Given the description of an element on the screen output the (x, y) to click on. 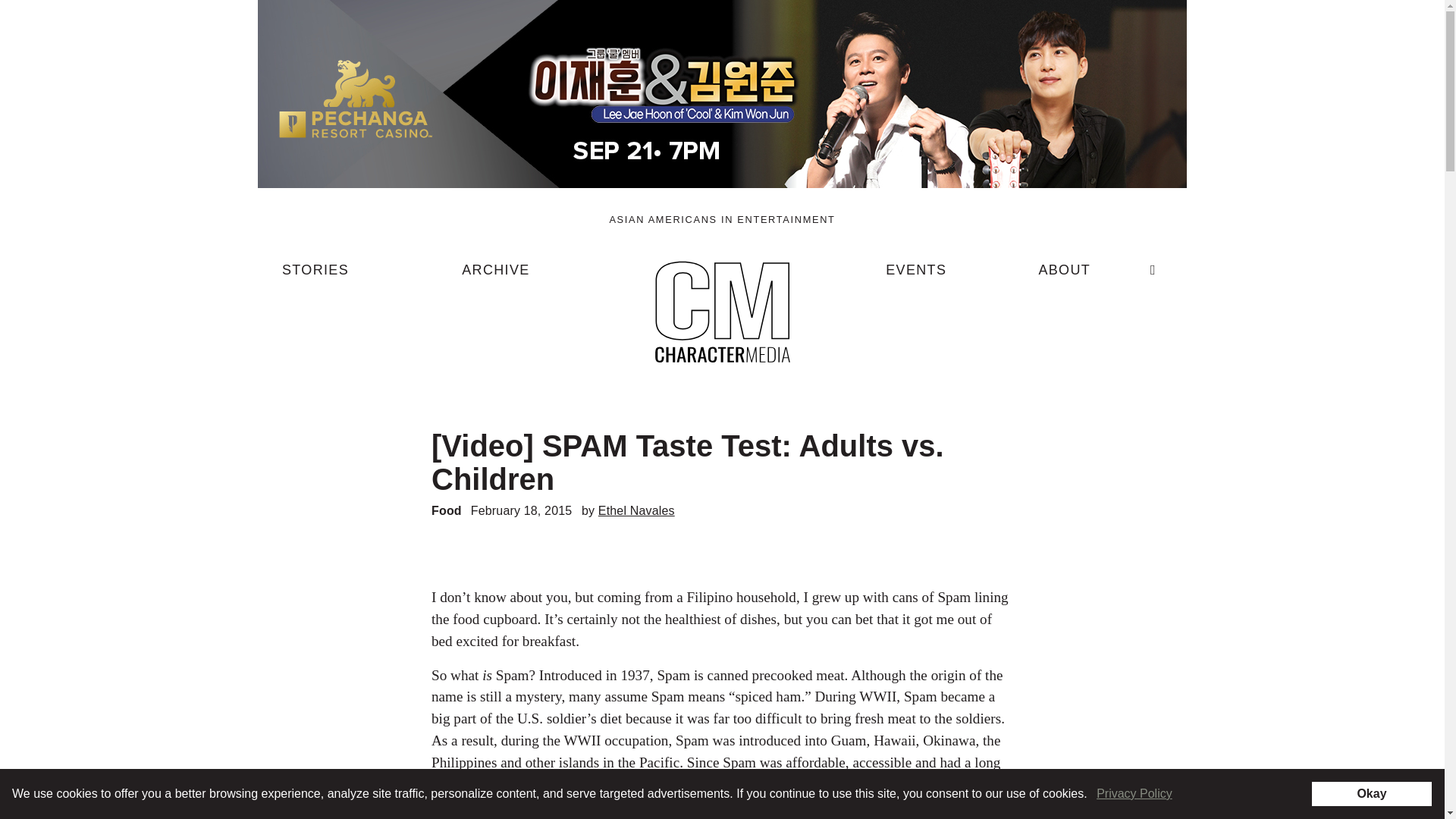
Ethel Navales (636, 510)
STORIES (315, 276)
Food (445, 510)
EVENTS (915, 276)
ARCHIVE (495, 276)
ABOUT (1064, 276)
